Given the description of an element on the screen output the (x, y) to click on. 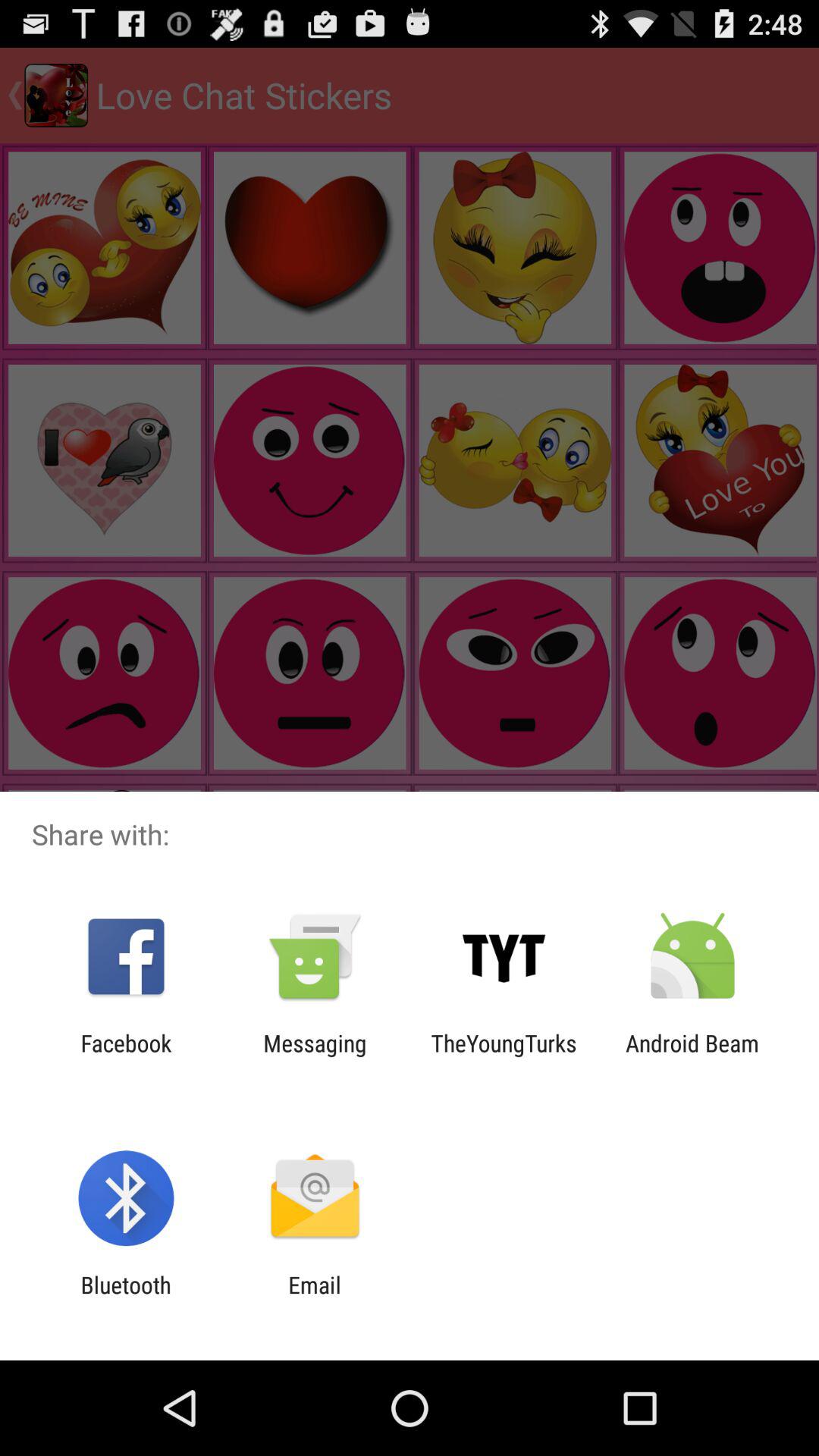
click the item to the right of the bluetooth app (314, 1298)
